Given the description of an element on the screen output the (x, y) to click on. 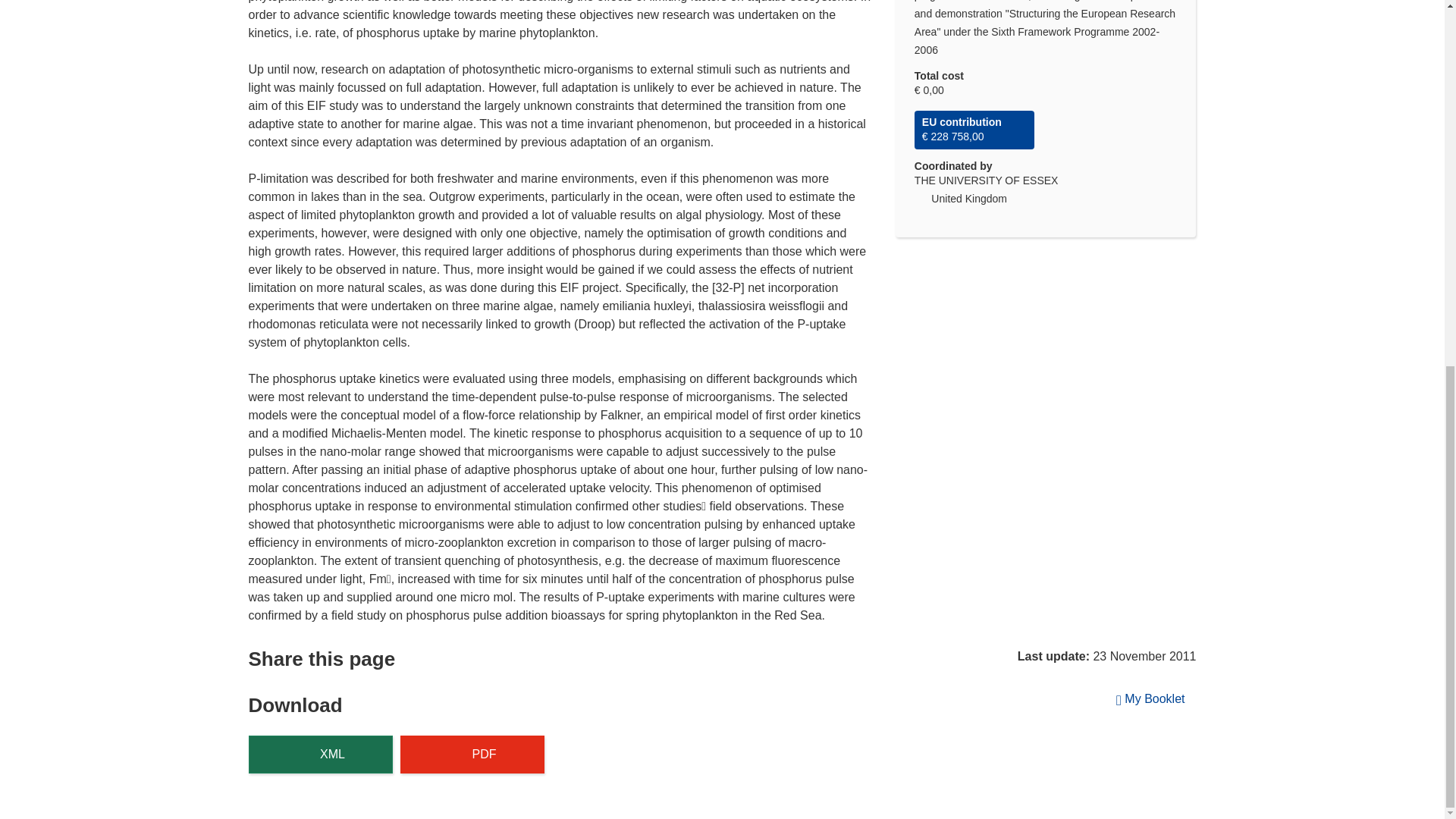
XML (320, 754)
My Booklet (1150, 698)
PDF (472, 754)
